Given the description of an element on the screen output the (x, y) to click on. 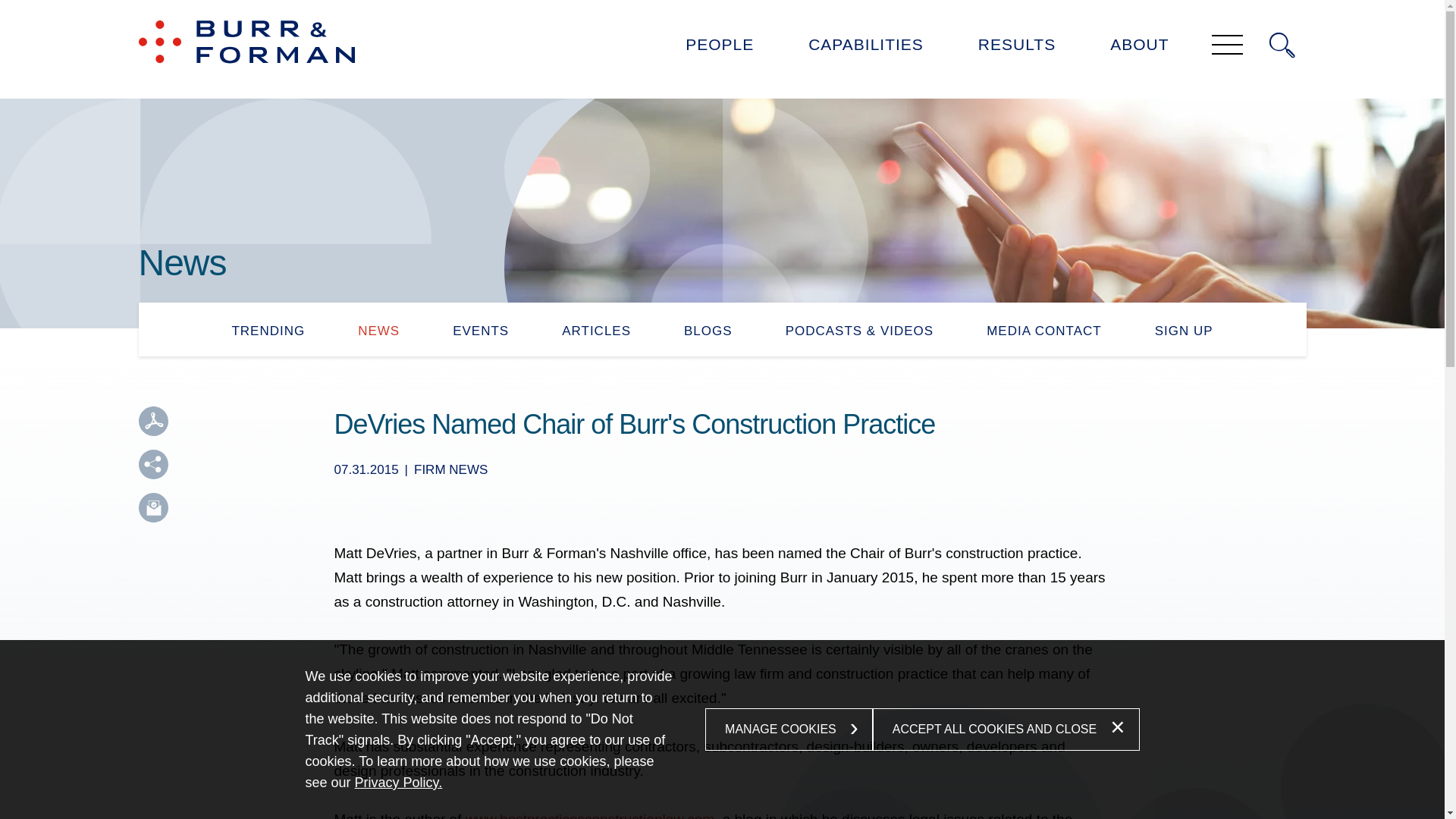
Print PDF (152, 420)
Main Menu (680, 17)
CAPABILITIES (865, 48)
Main Content (674, 17)
ABOUT (1139, 48)
Search (1282, 45)
Menu (680, 17)
Share (152, 464)
Menu (1227, 45)
RESULTS (1016, 48)
PEOPLE (719, 48)
